Given the description of an element on the screen output the (x, y) to click on. 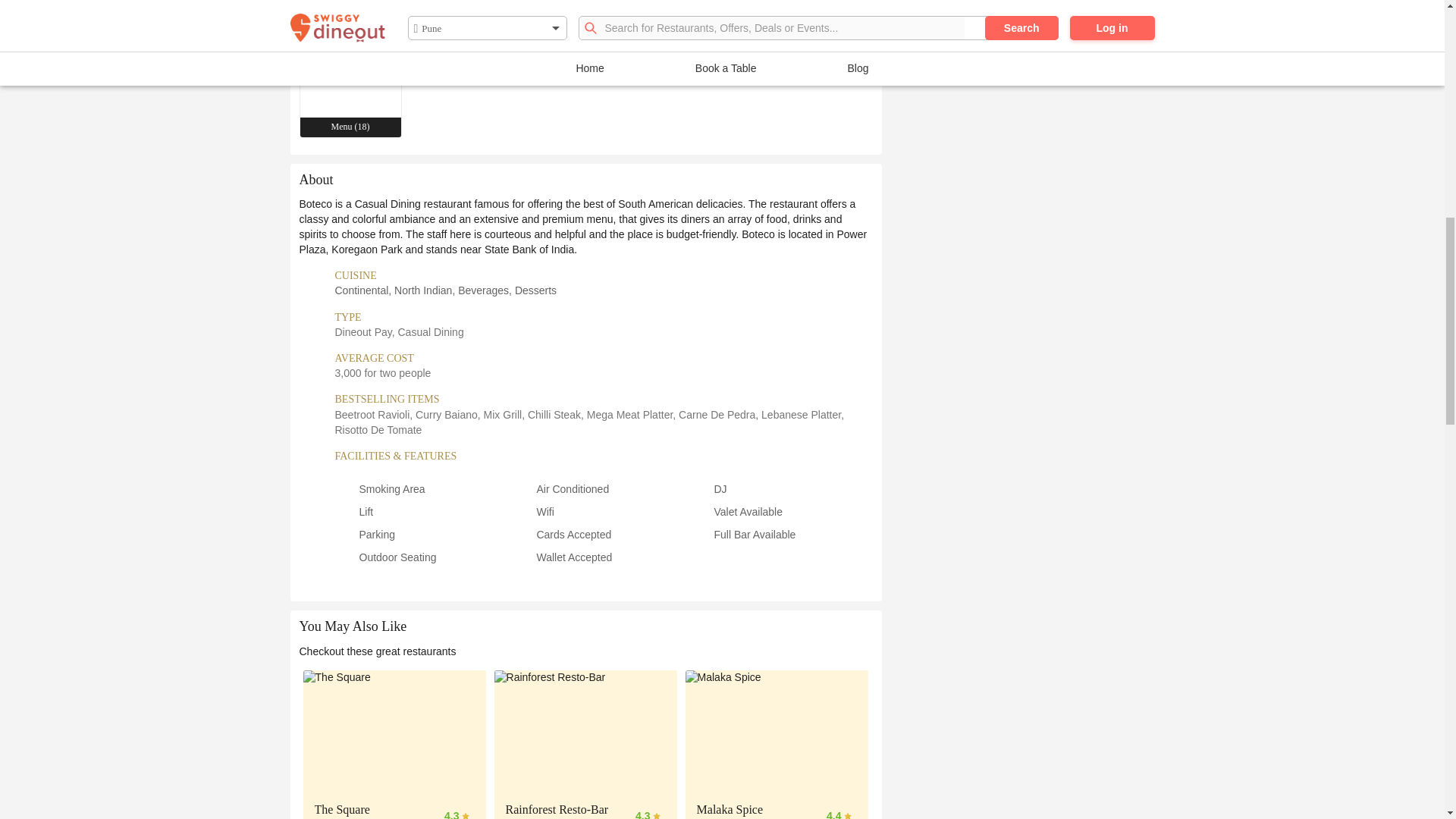
Rainforest Resto-Bar (586, 730)
Malaka Spice (777, 730)
The Square (394, 730)
